Given the description of an element on the screen output the (x, y) to click on. 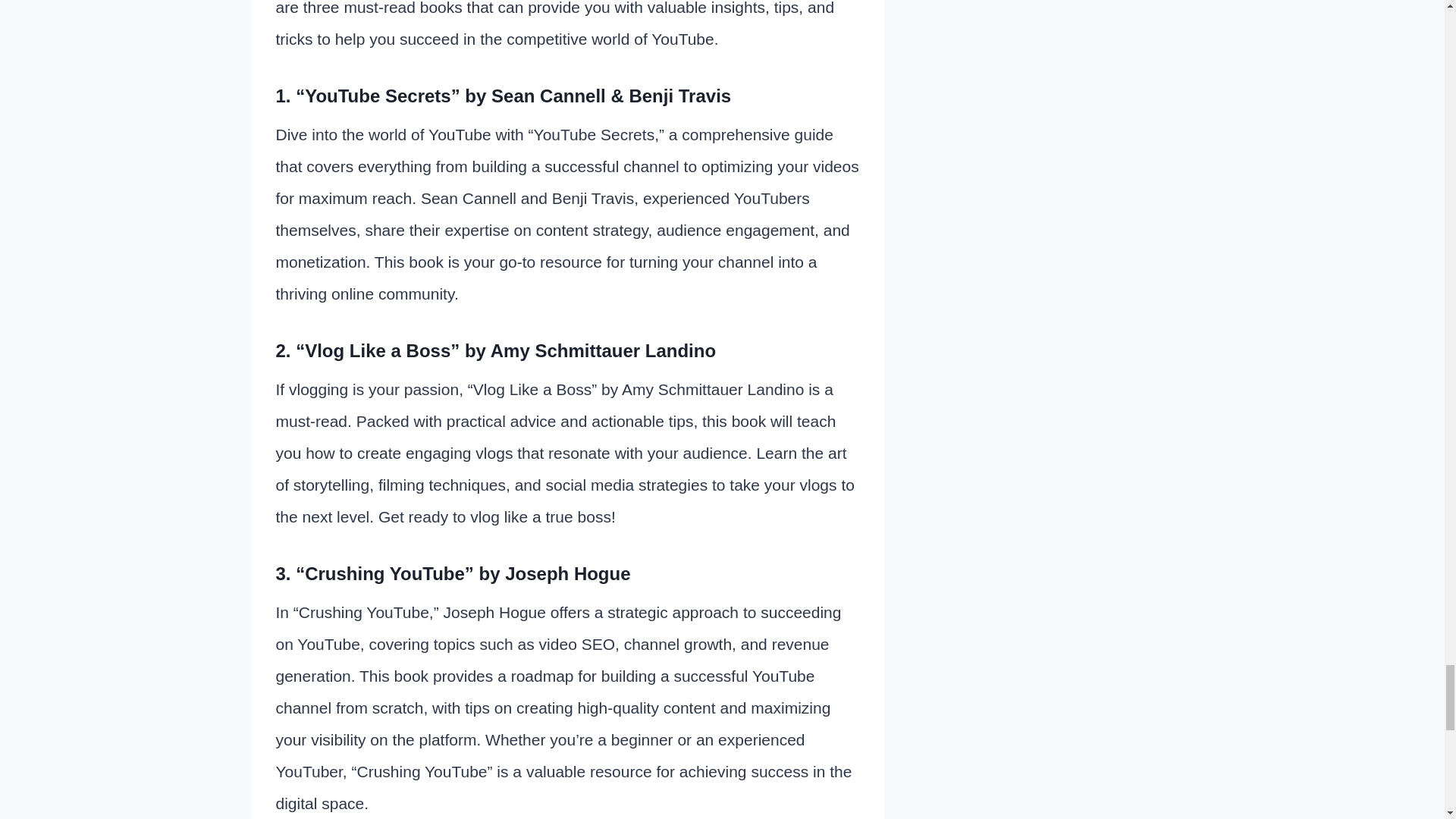
Vlog Like a Boss (376, 350)
Crushing YouTube (384, 573)
YouTube Secrets (377, 95)
